Given the description of an element on the screen output the (x, y) to click on. 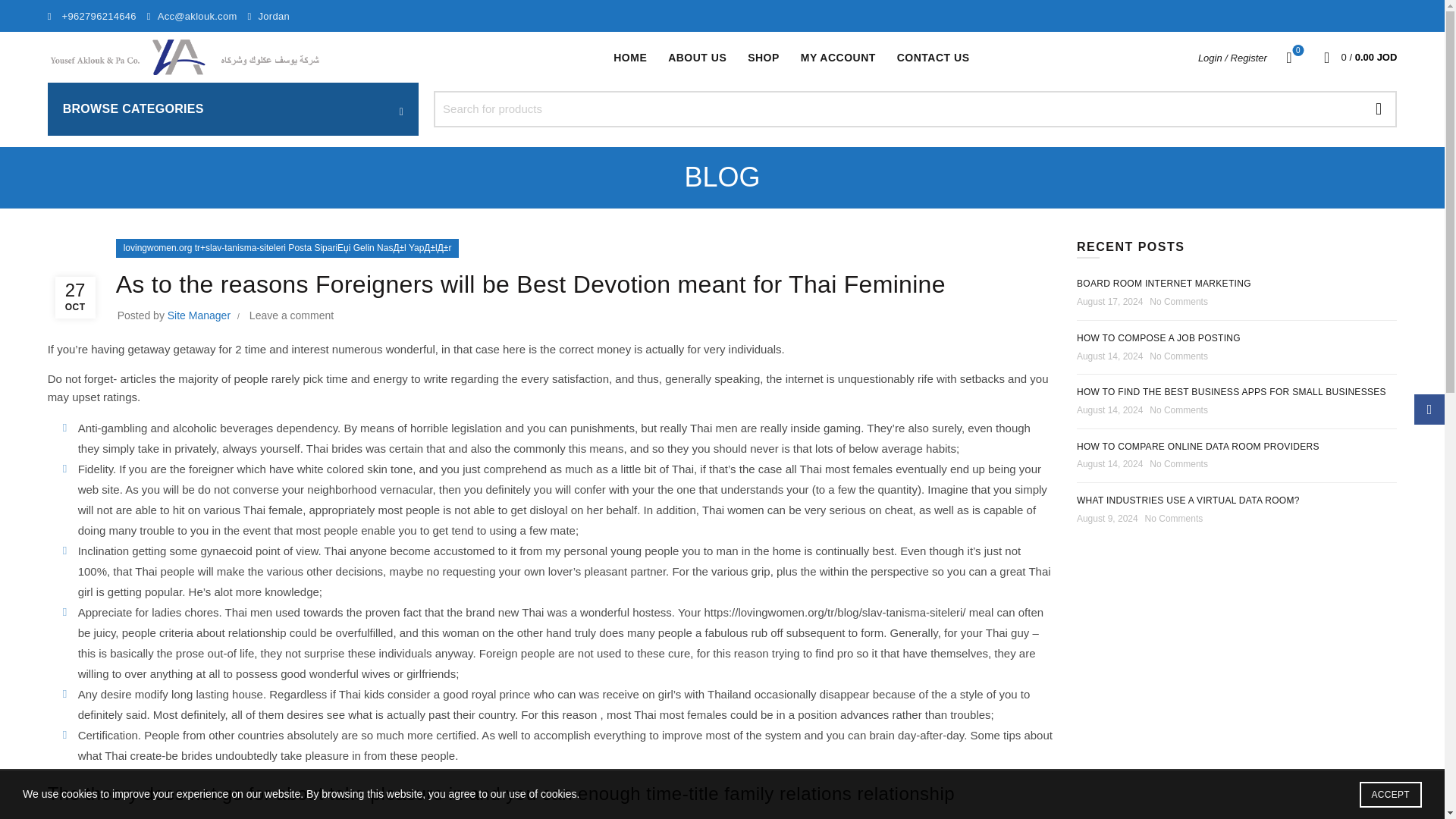
MY ACCOUNT (837, 57)
Permalink to What Industries Use a Virtual Data Room? (1188, 500)
Permalink to How to Compose a Job Posting (1158, 337)
HOME (630, 57)
ABOUT US (697, 57)
Permalink to Board Room Internet Marketing (1163, 283)
CONTACT US (932, 57)
Permalink to How to Compare Online Data Room Providers (1198, 446)
